Given the description of an element on the screen output the (x, y) to click on. 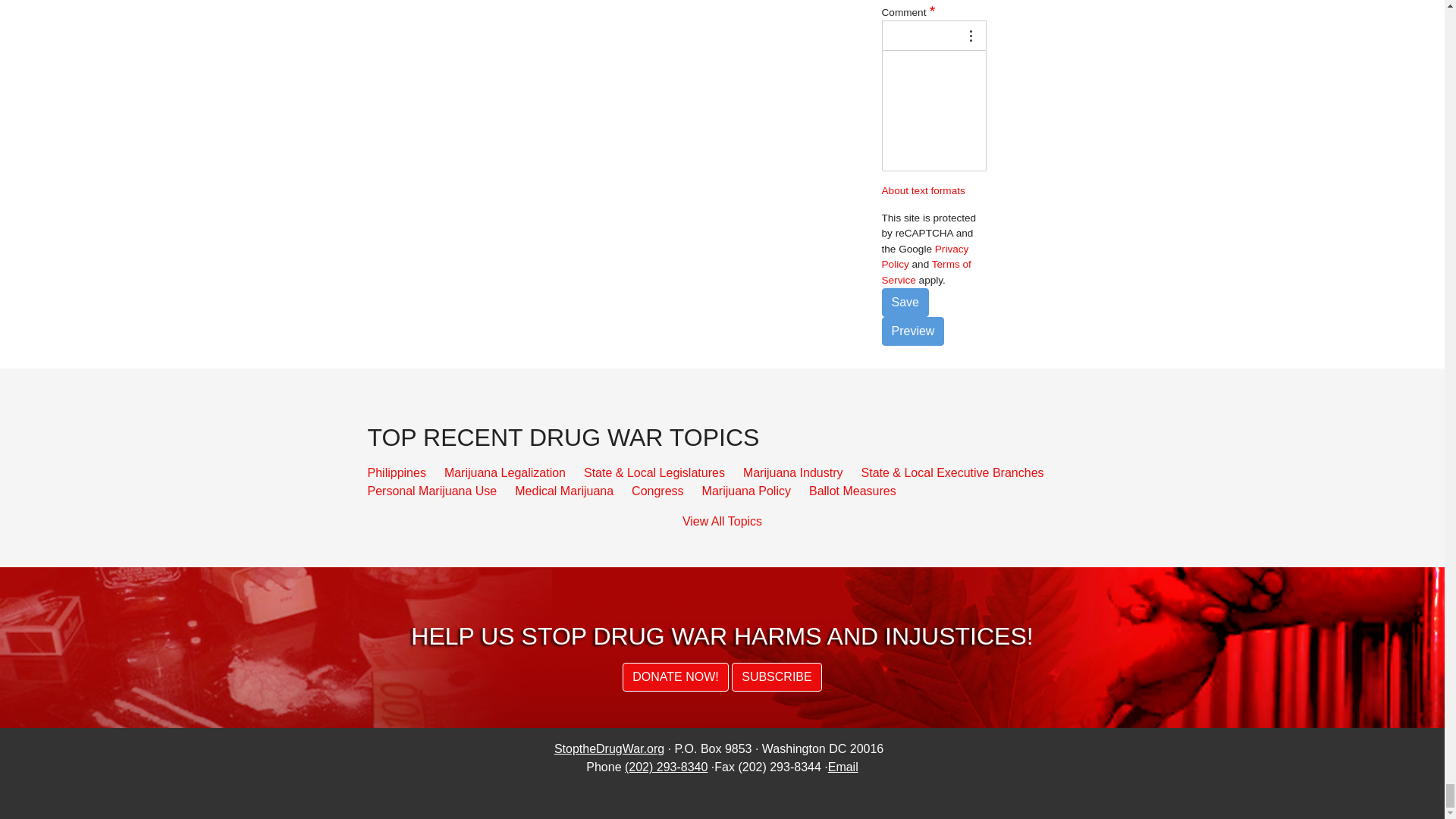
Save (904, 302)
Preview (911, 330)
